Given the description of an element on the screen output the (x, y) to click on. 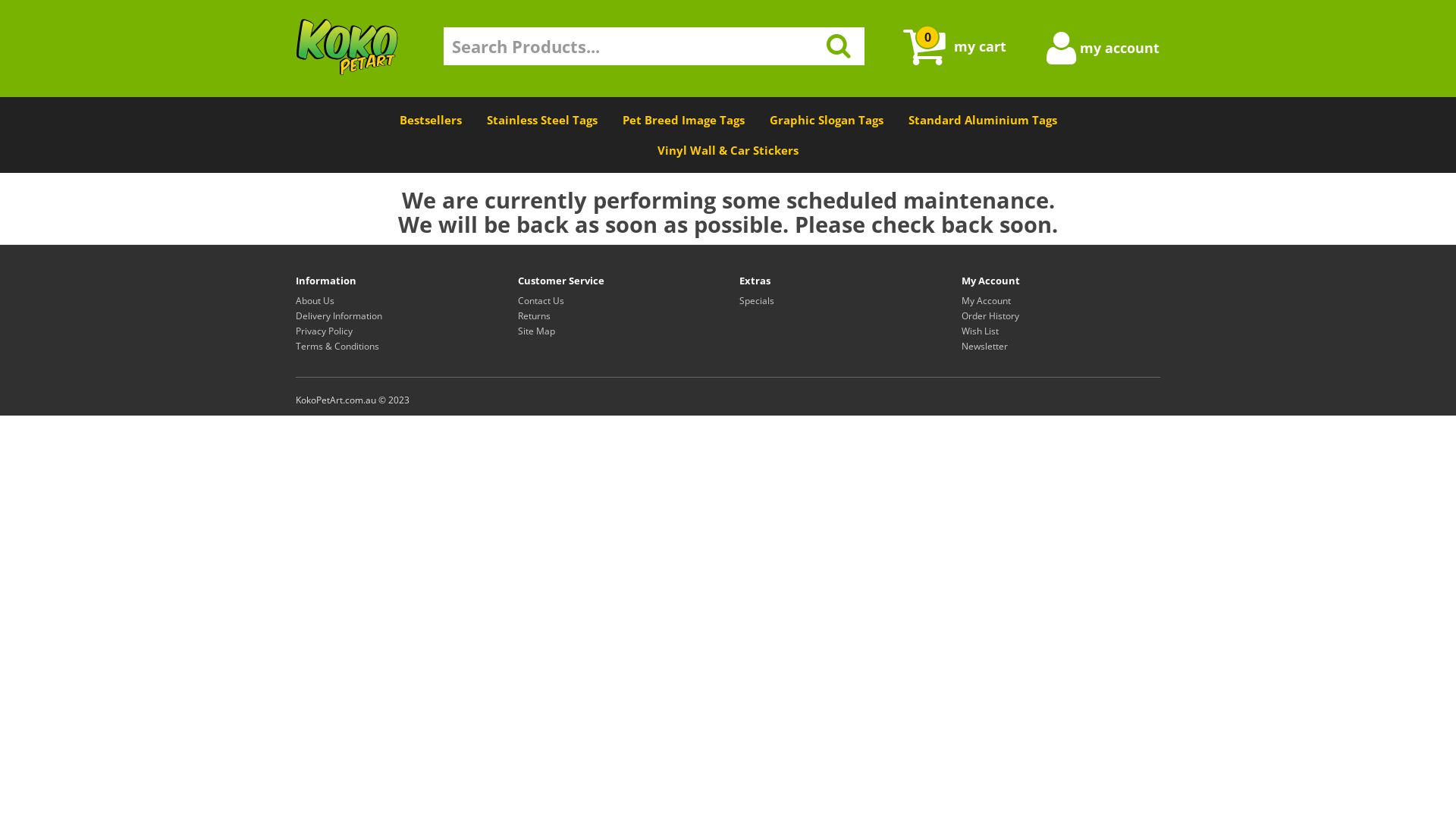
Returns Element type: text (533, 315)
Specials Element type: text (756, 300)
Koko Pet Art Element type: hover (346, 46)
Order History Element type: text (990, 315)
My Account Element type: text (985, 300)
Bestsellers Element type: text (430, 119)
Newsletter Element type: text (984, 345)
Contact Us Element type: text (540, 300)
Wish List Element type: text (979, 330)
0 Element type: text (924, 46)
About Us Element type: text (314, 300)
Terms & Conditions Element type: text (337, 345)
Privacy Policy Element type: text (323, 330)
my account Element type: text (1061, 57)
Graphic Slogan Tags Element type: text (826, 119)
Pet Breed Image Tags Element type: text (683, 119)
Vinyl Wall & Car Stickers Element type: text (727, 149)
Site Map Element type: text (535, 330)
Stainless Steel Tags Element type: text (541, 119)
Delivery Information Element type: text (338, 315)
Standard Aluminium Tags Element type: text (981, 119)
